Given the description of an element on the screen output the (x, y) to click on. 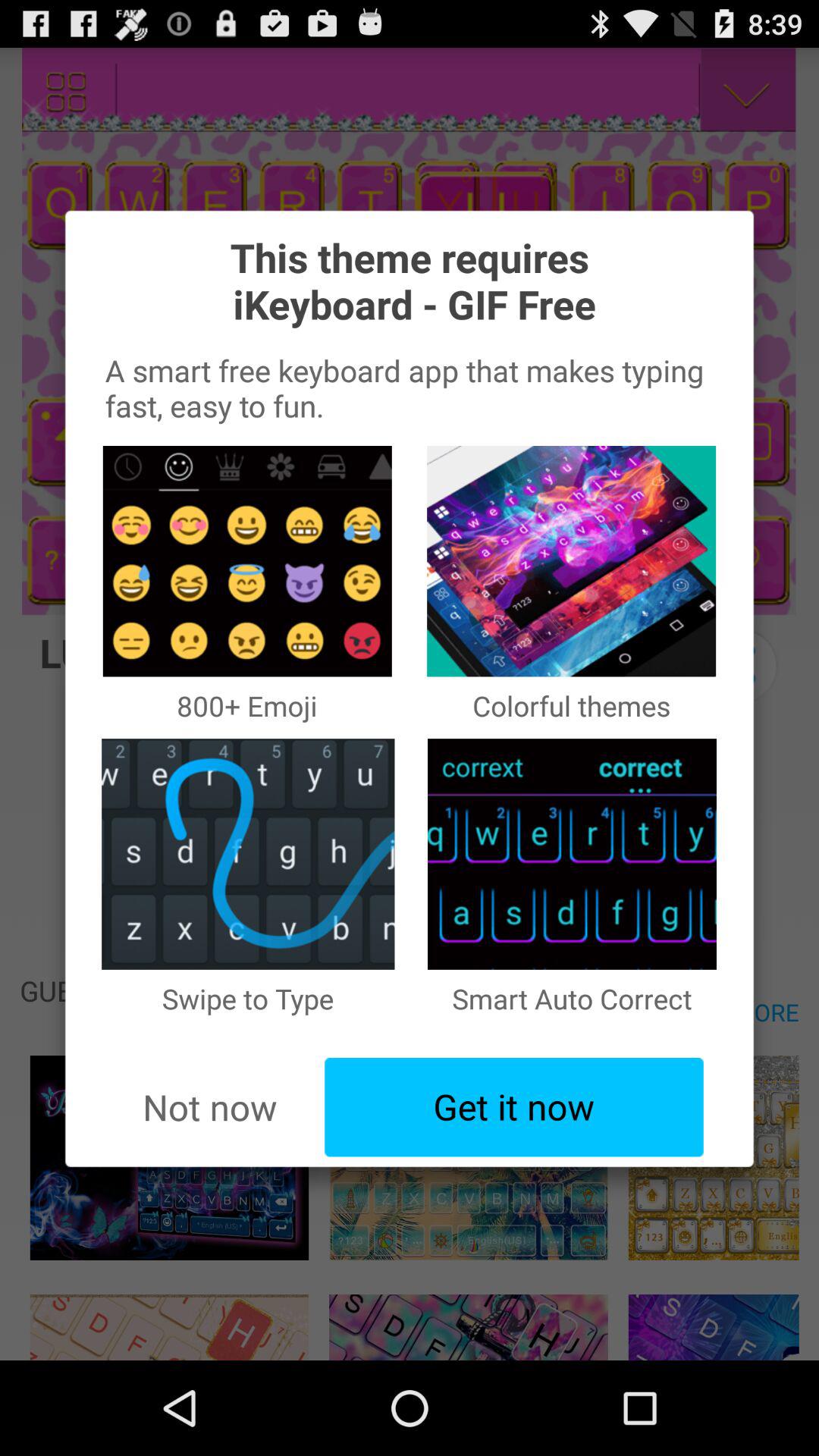
swipe to not now item (209, 1106)
